Given the description of an element on the screen output the (x, y) to click on. 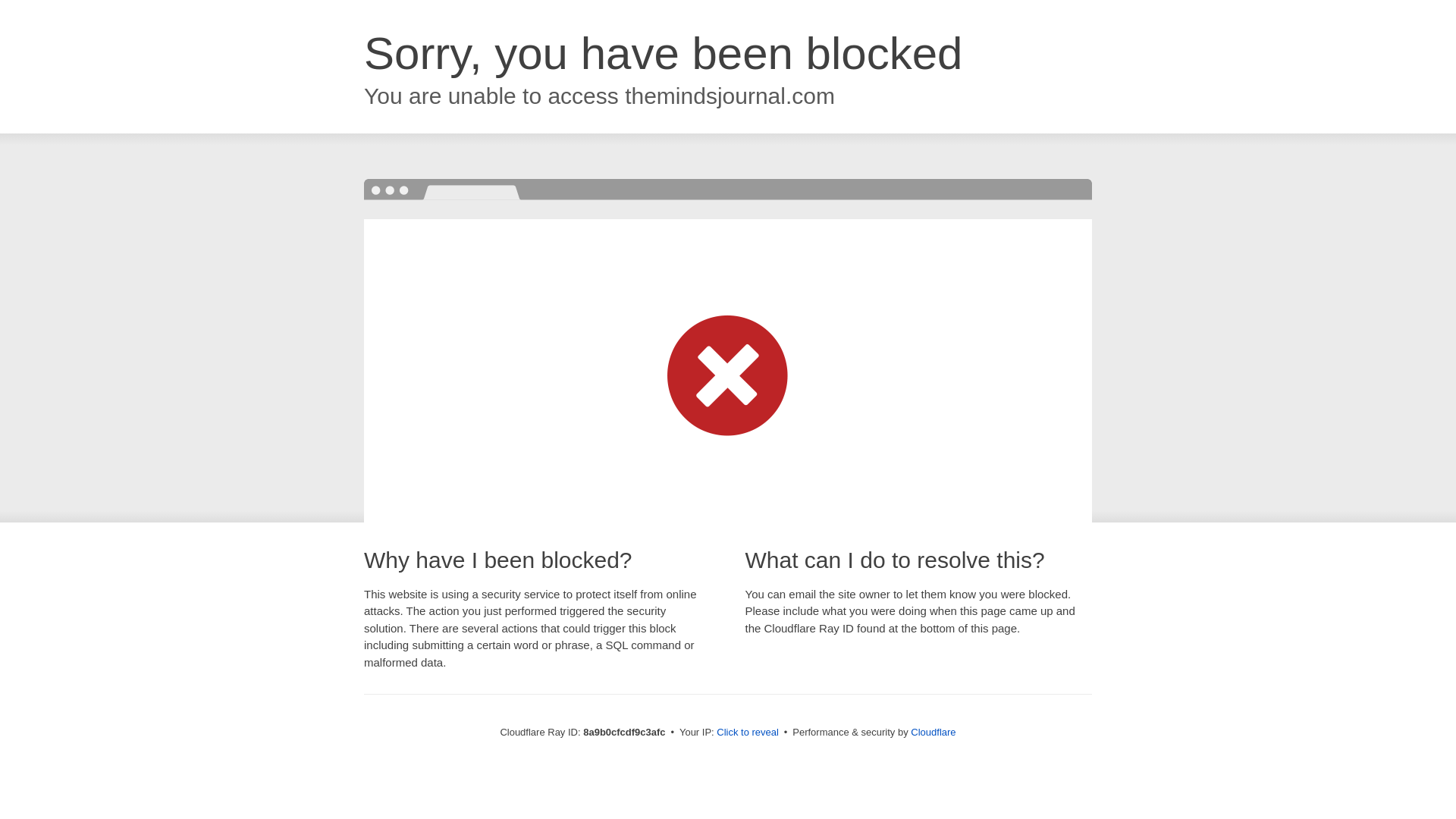
Click to reveal (747, 732)
Cloudflare (933, 731)
